Given the description of an element on the screen output the (x, y) to click on. 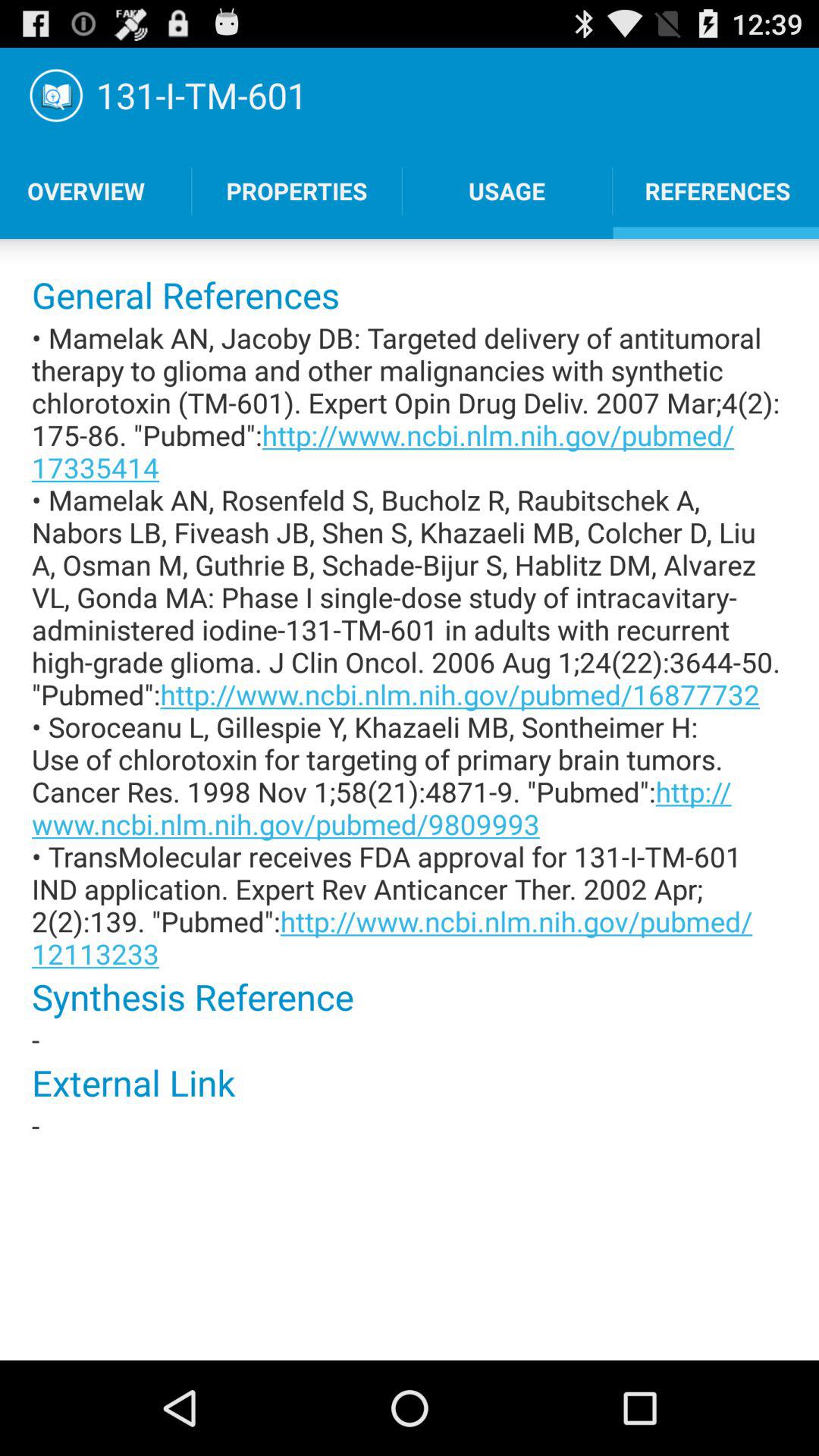
turn on mamelak an jacoby at the center (409, 645)
